Given the description of an element on the screen output the (x, y) to click on. 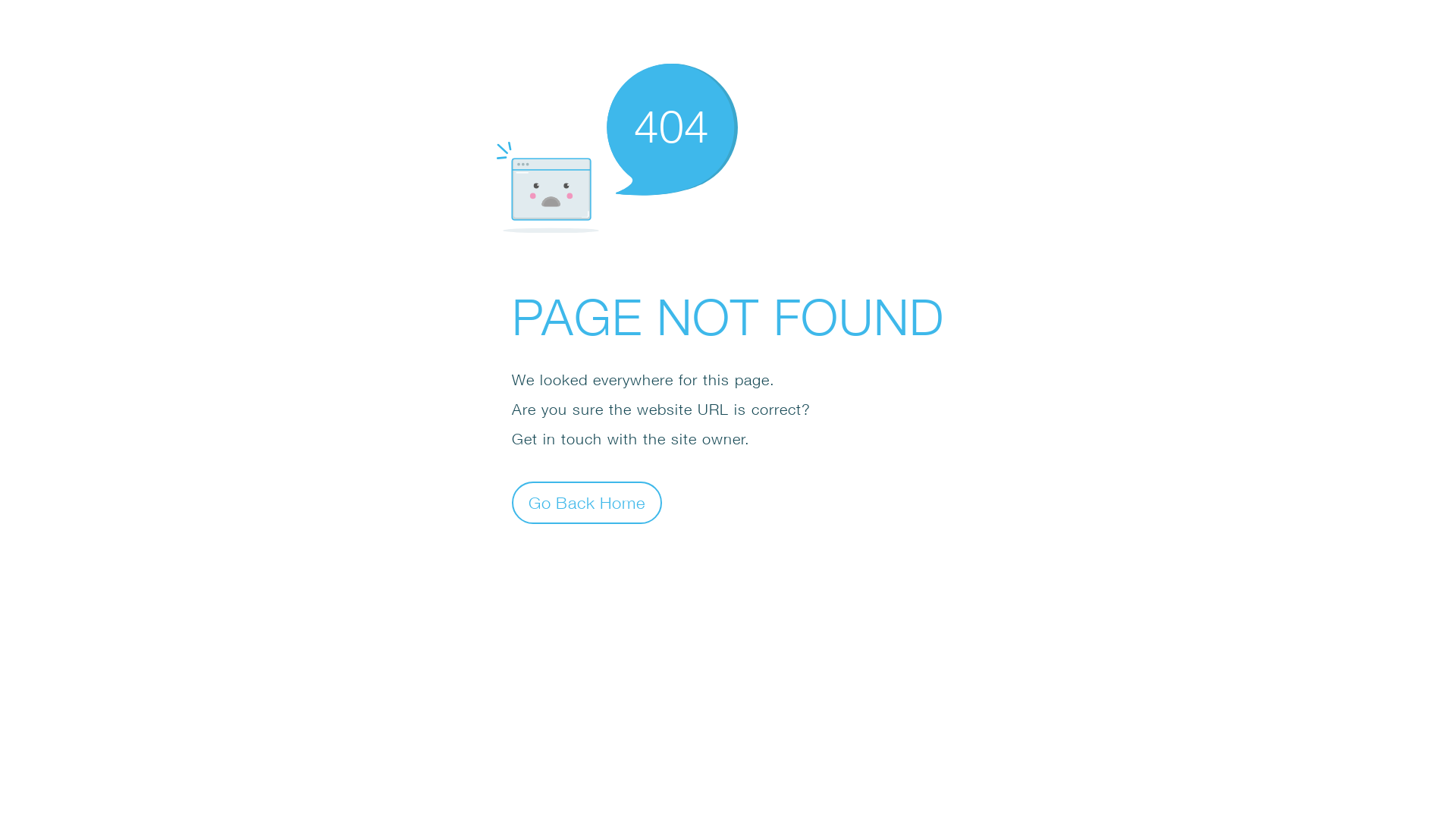
Go Back Home Element type: text (586, 502)
